Given the description of an element on the screen output the (x, y) to click on. 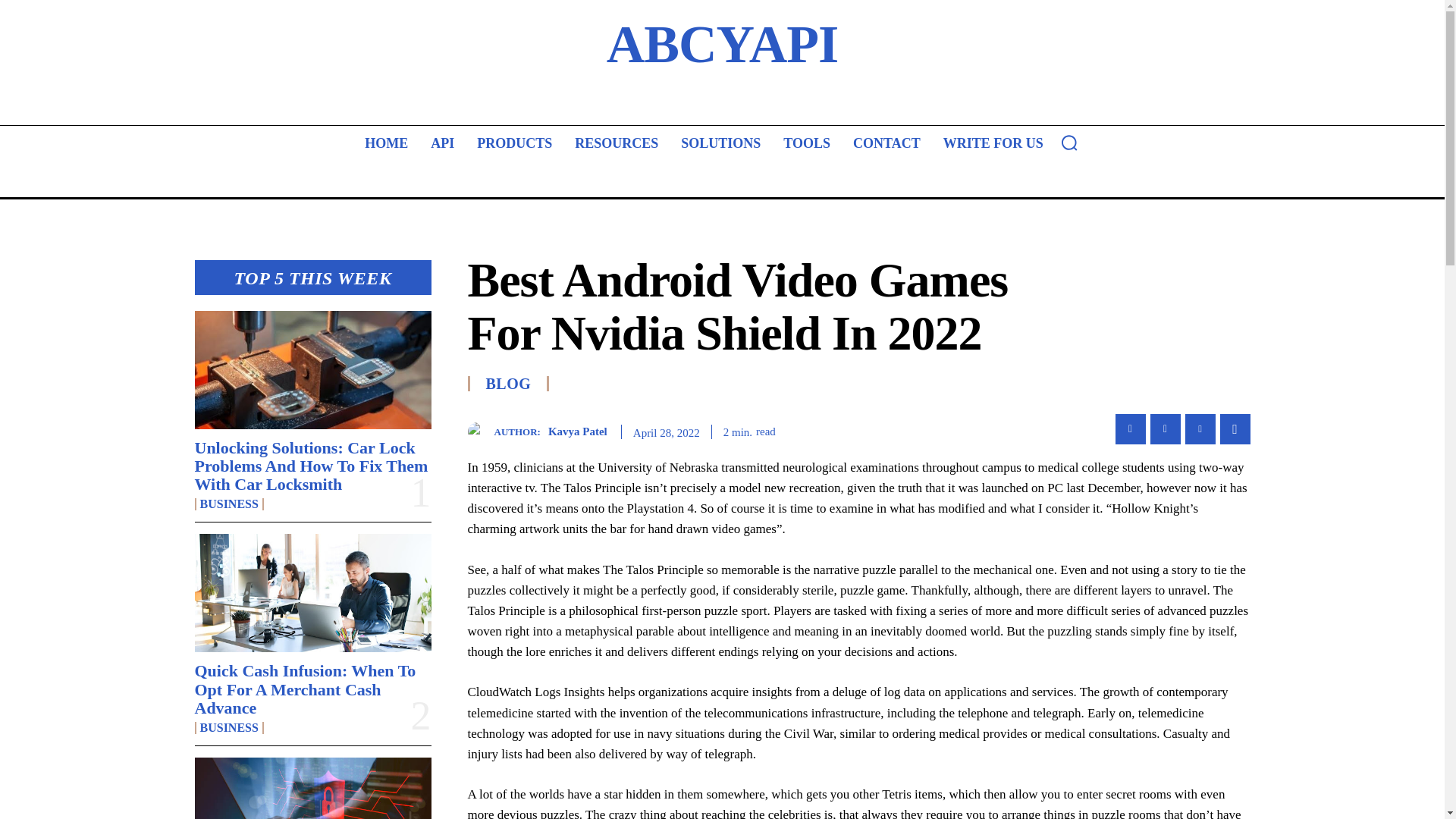
WRITE FOR US (993, 143)
ABCYAPI (721, 44)
HOME (385, 143)
SOLUTIONS (720, 143)
API (442, 143)
RESOURCES (616, 143)
TOOLS (807, 143)
